Given the description of an element on the screen output the (x, y) to click on. 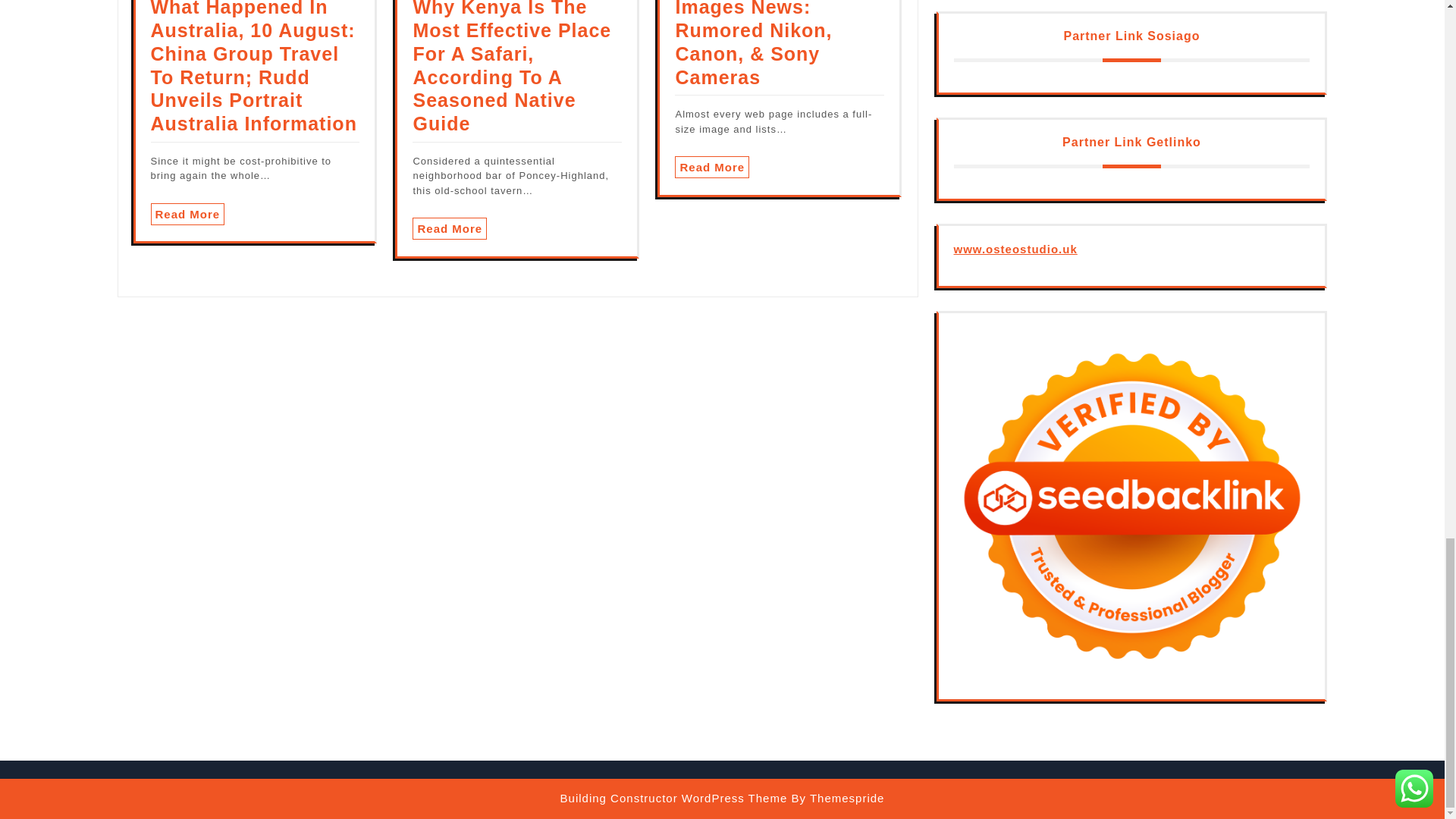
Read More (186, 214)
Seedbacklink (1131, 506)
Read More (449, 228)
Read More (712, 167)
Read More (186, 214)
Read More (449, 228)
Read More (712, 167)
